Given the description of an element on the screen output the (x, y) to click on. 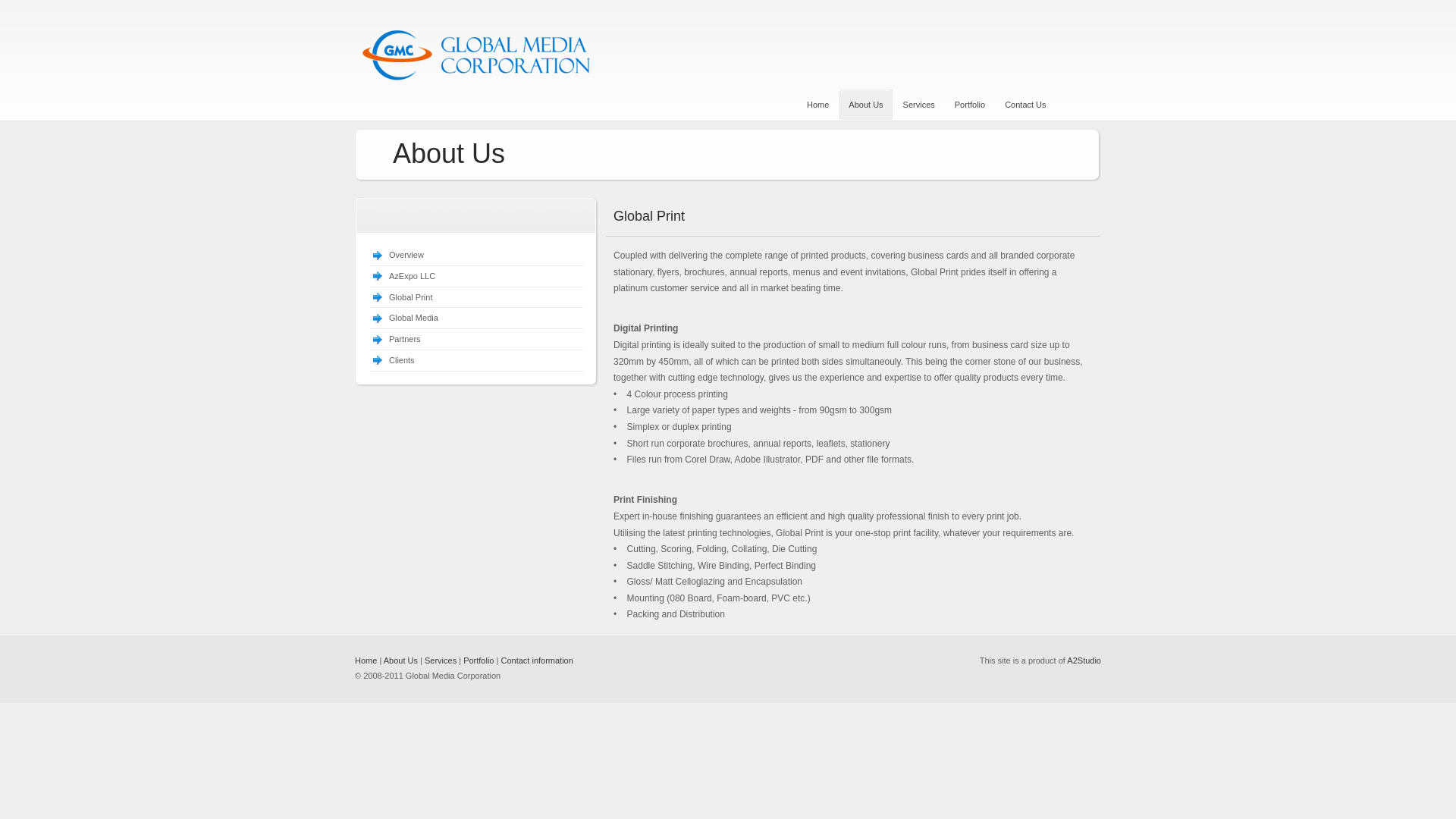
Portfolio Element type: text (969, 104)
Contact Us Element type: text (1024, 104)
Clients Element type: text (401, 359)
Global Media Element type: text (413, 317)
Home Element type: text (817, 104)
A2Studio Element type: text (1083, 660)
Overview Element type: text (406, 254)
Services Element type: text (919, 104)
Contact information Element type: text (536, 660)
Services Element type: text (440, 660)
About Us Element type: text (400, 660)
Partners Element type: text (404, 338)
About Us Element type: text (865, 104)
Home Element type: text (365, 660)
AzExpo LLC Element type: text (412, 275)
Portfolio Element type: text (478, 660)
Global Print Element type: text (410, 296)
